Given the description of an element on the screen output the (x, y) to click on. 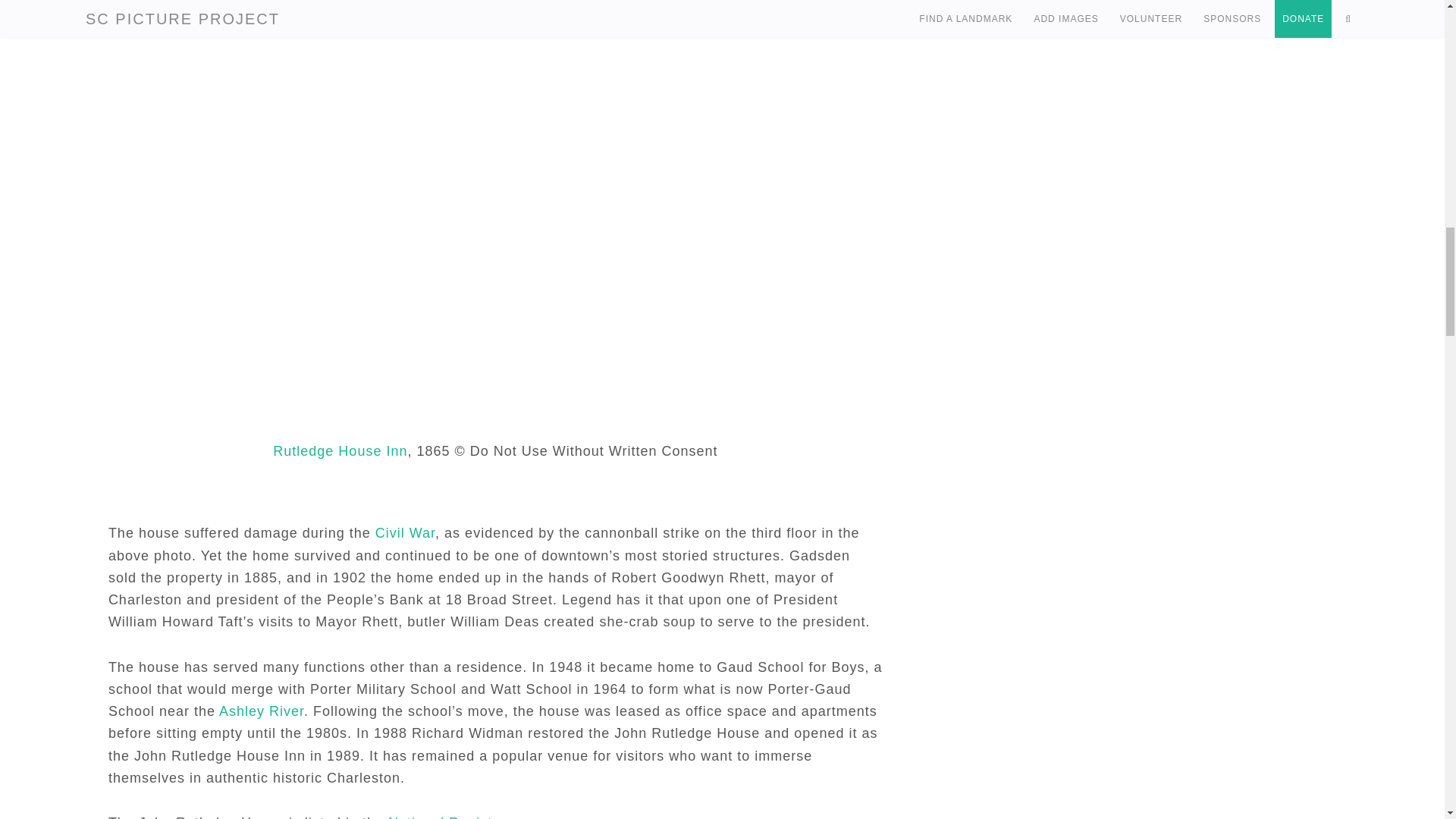
Civil War (405, 532)
Ashley River (261, 711)
National Register (446, 816)
Rutledge House Inn (340, 450)
